Given the description of an element on the screen output the (x, y) to click on. 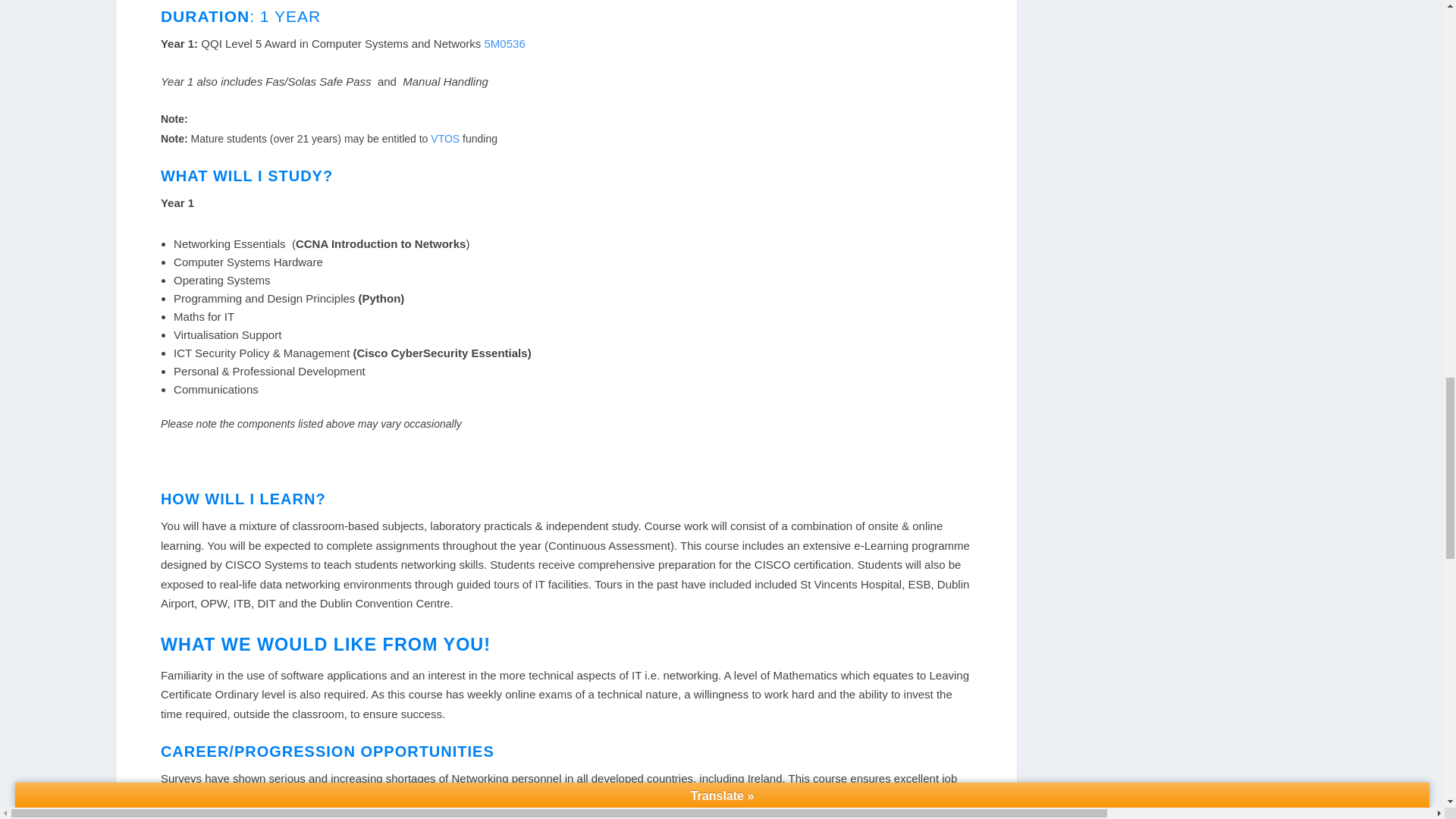
5M0536 (504, 42)
VTOS  (446, 138)
QQI Higher Education Links Scheme. (315, 814)
Higher Education Links Scheme (315, 814)
